Given the description of an element on the screen output the (x, y) to click on. 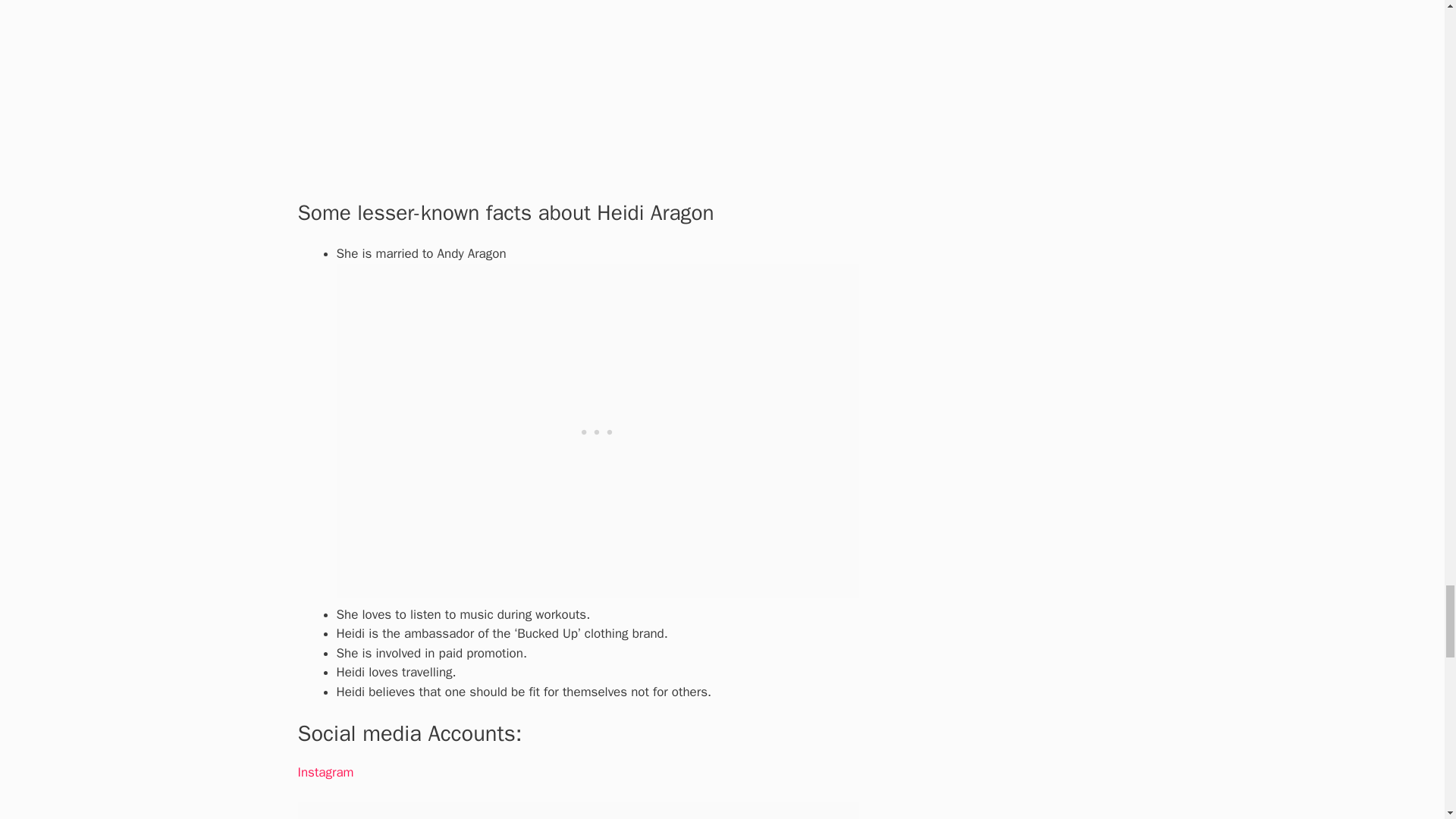
Instagram (325, 772)
